Given the description of an element on the screen output the (x, y) to click on. 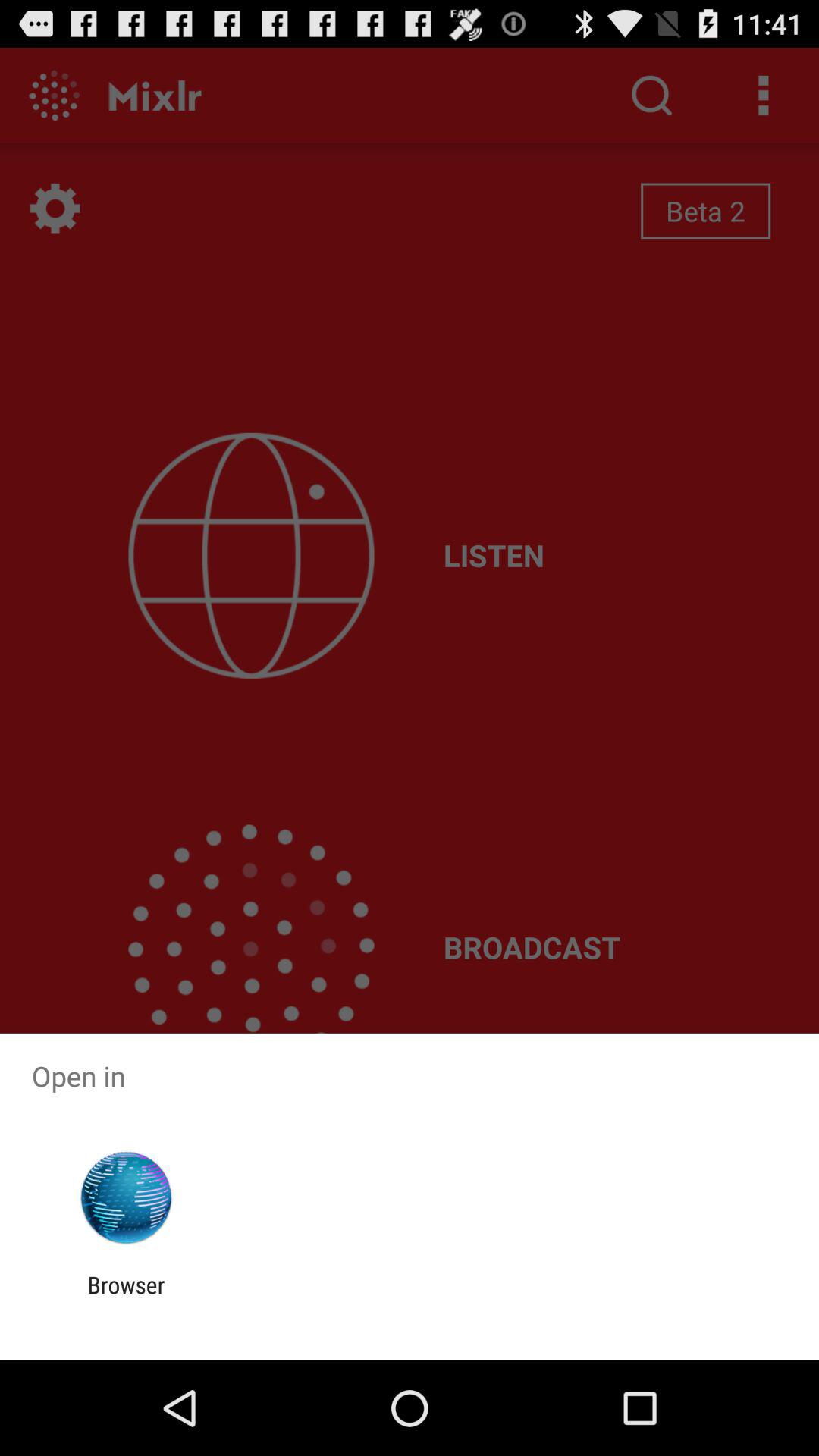
swipe to the browser icon (125, 1298)
